Given the description of an element on the screen output the (x, y) to click on. 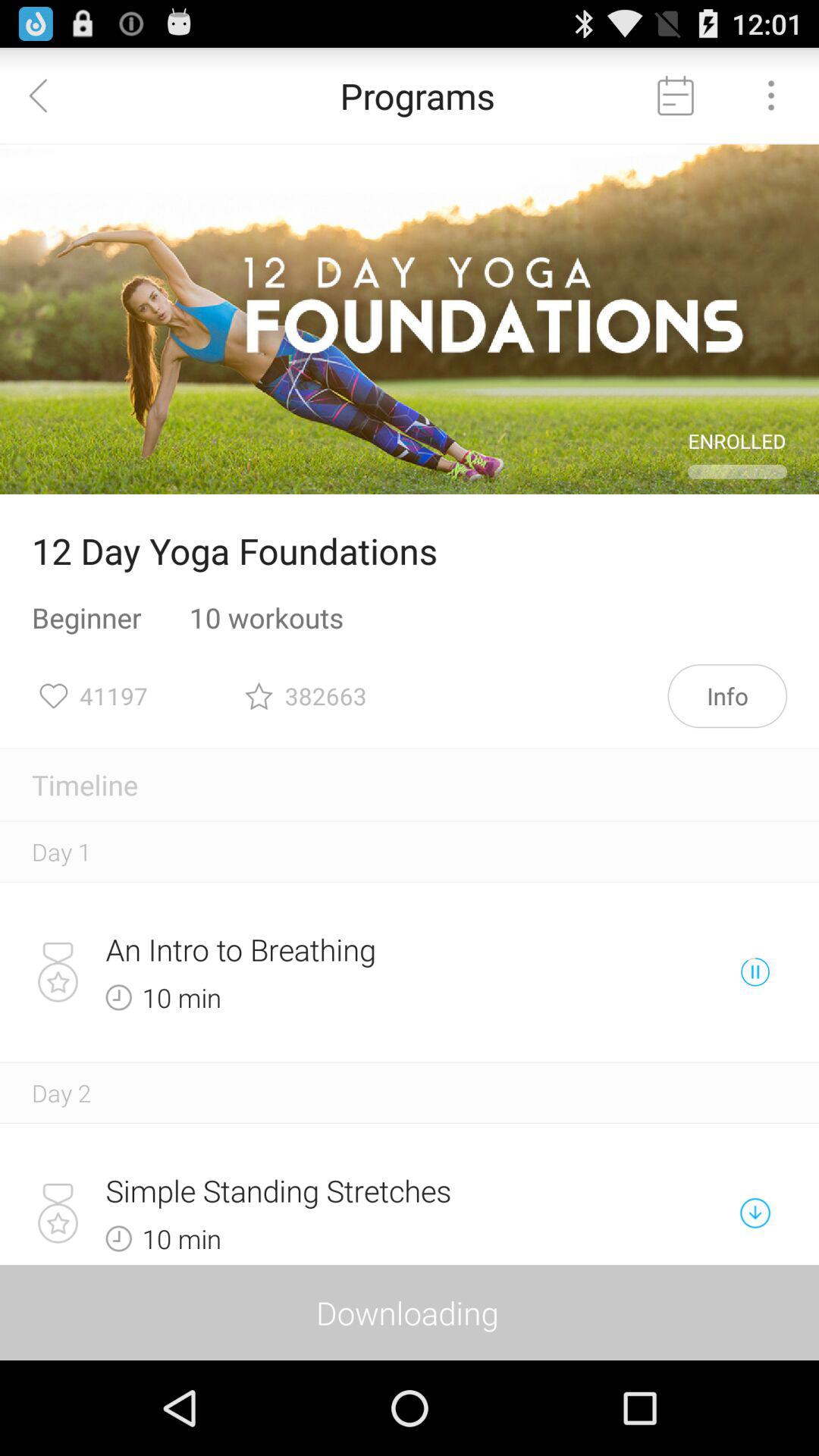
open the item to the right of 382663 icon (727, 696)
